Given the description of an element on the screen output the (x, y) to click on. 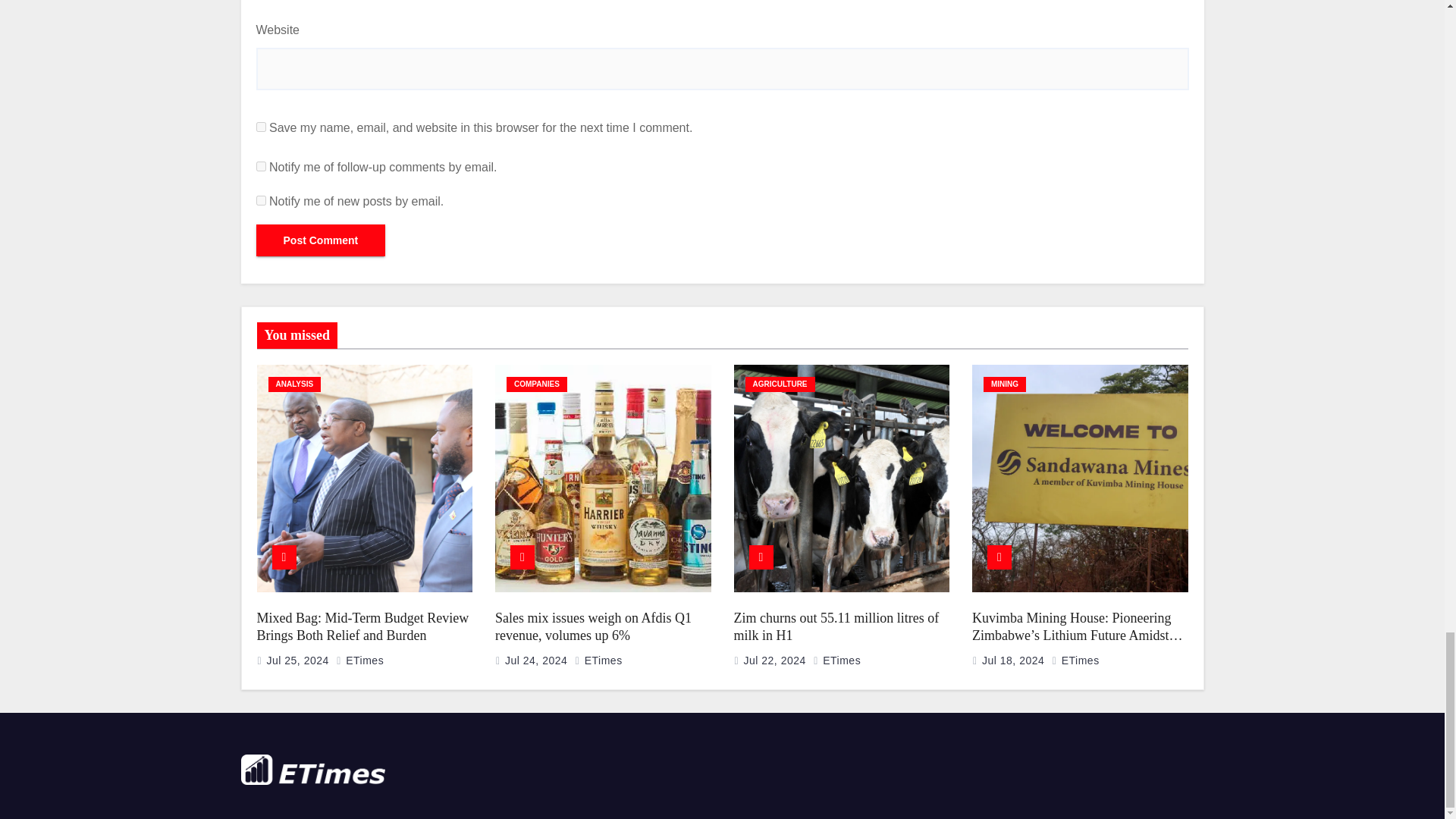
subscribe (261, 166)
yes (261, 126)
subscribe (261, 200)
Post Comment (320, 240)
